Given the description of an element on the screen output the (x, y) to click on. 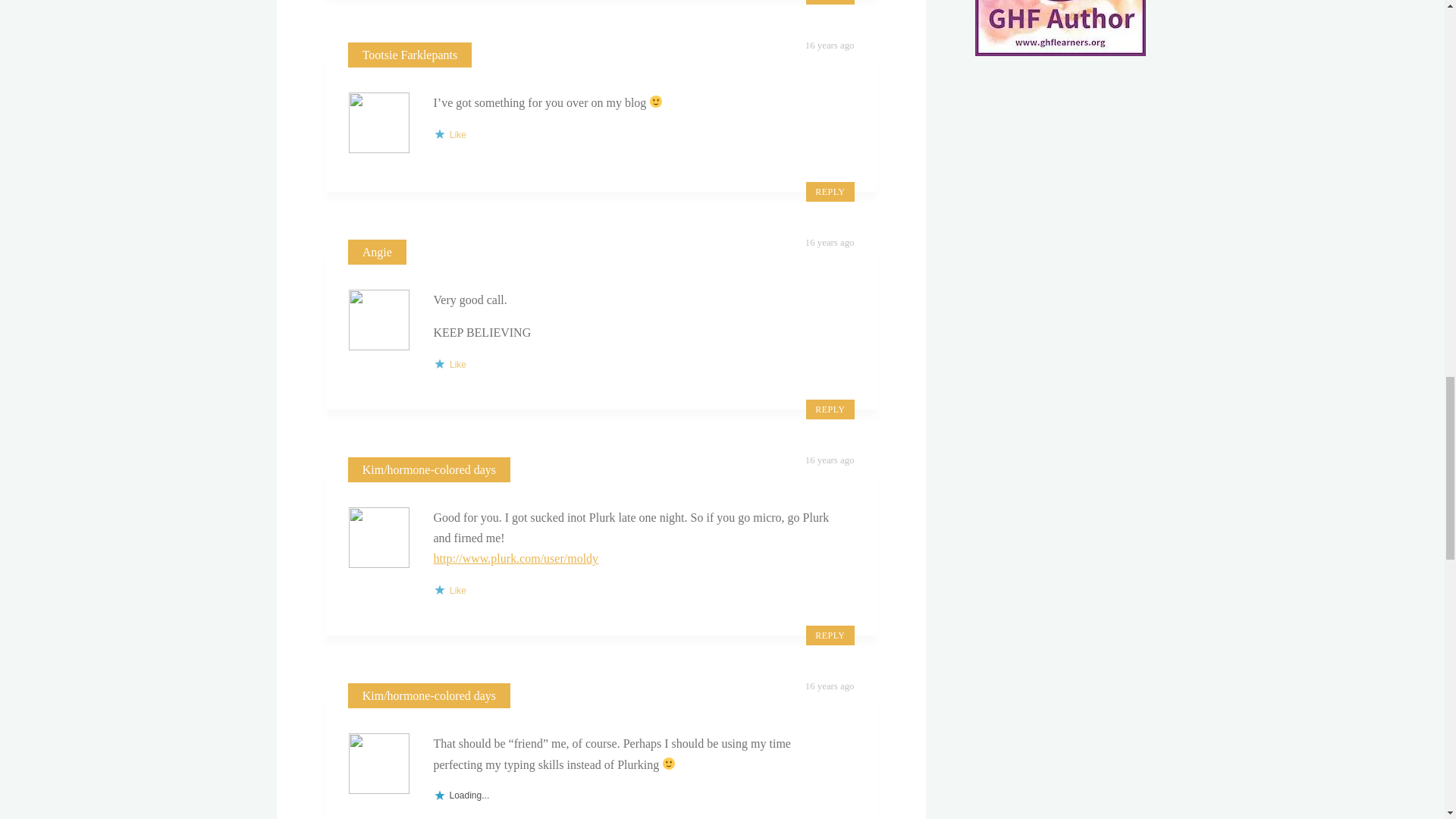
REPLY (829, 409)
REPLY (829, 2)
16 years ago (829, 45)
REPLY (829, 191)
Angie (376, 251)
Tootsie Farklepants (410, 54)
16 years ago (829, 242)
